Given the description of an element on the screen output the (x, y) to click on. 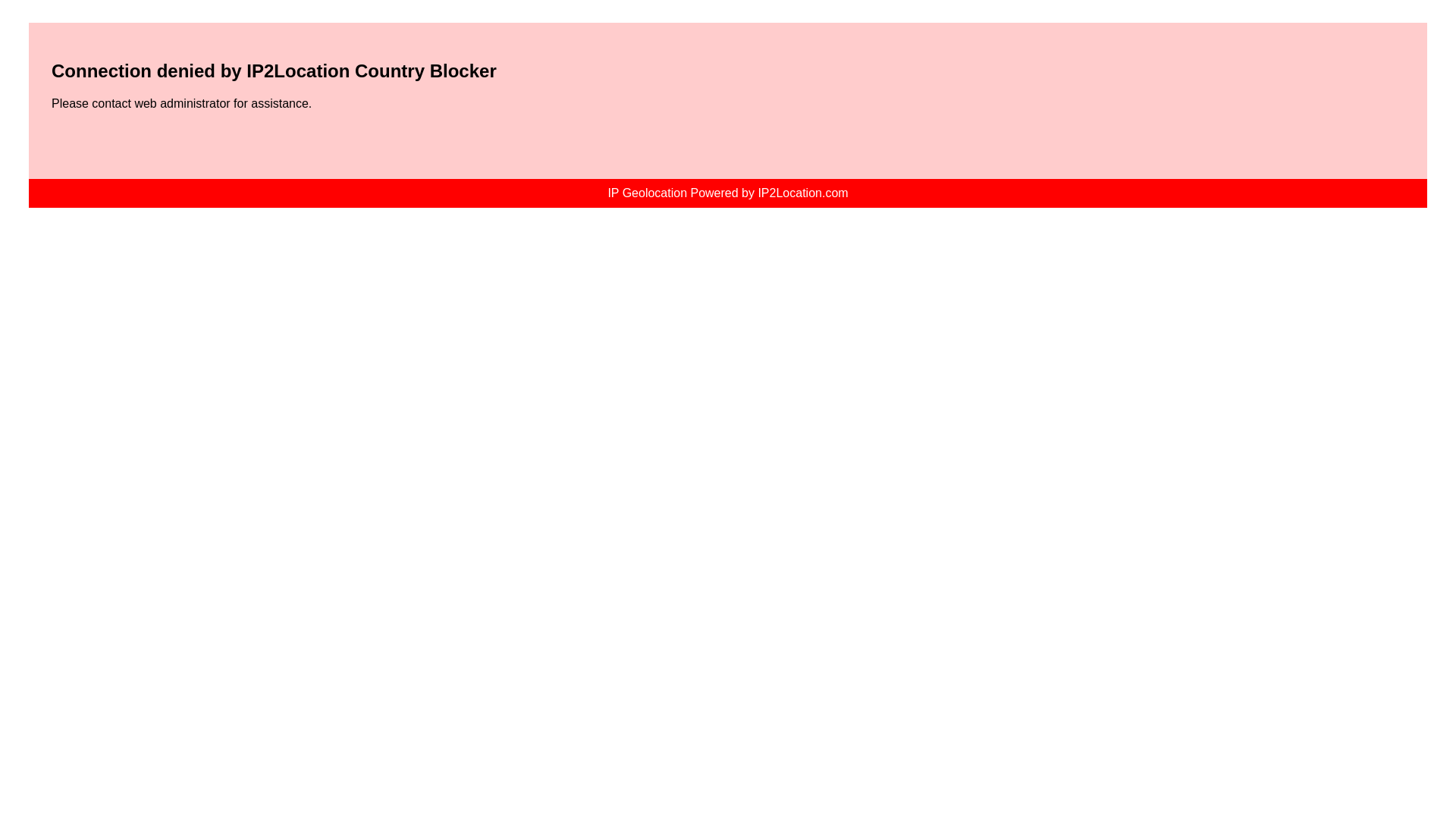
IP Geolocation Powered by IP2Location.com (727, 192)
